Given the description of an element on the screen output the (x, y) to click on. 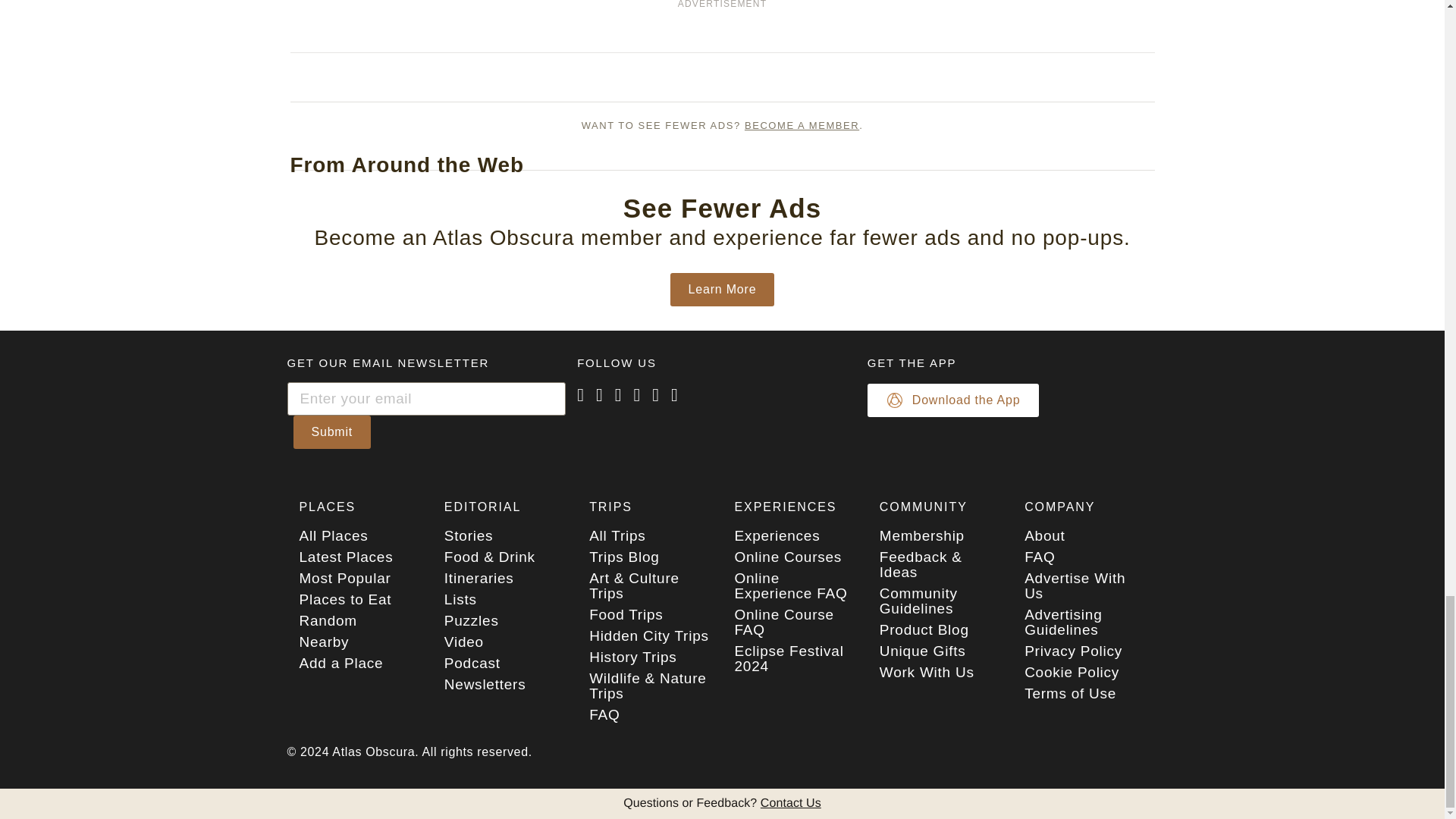
Submit (331, 431)
